Given the description of an element on the screen output the (x, y) to click on. 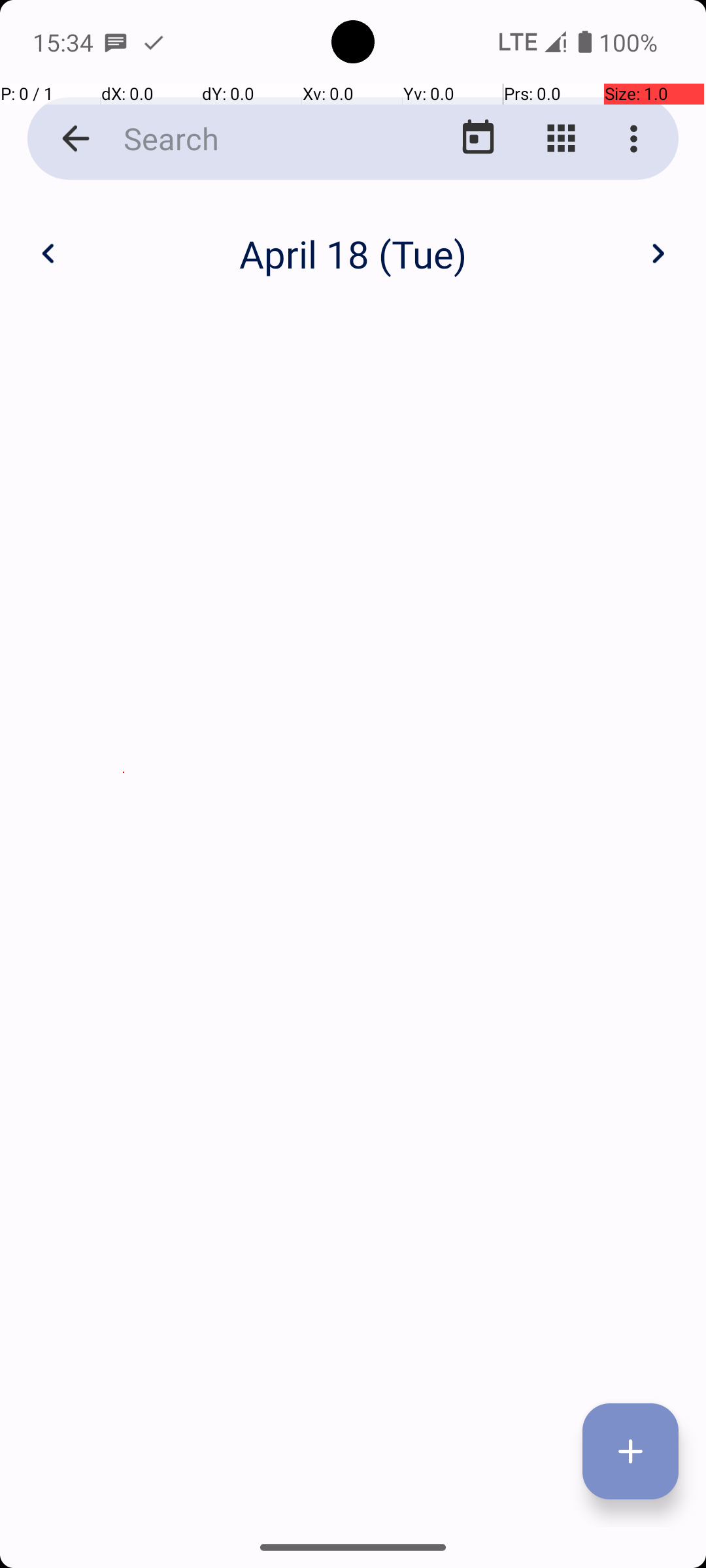
April Element type: android.widget.TextView (352, 239)
April 18 (Tue) Element type: android.widget.TextView (352, 253)
